Given the description of an element on the screen output the (x, y) to click on. 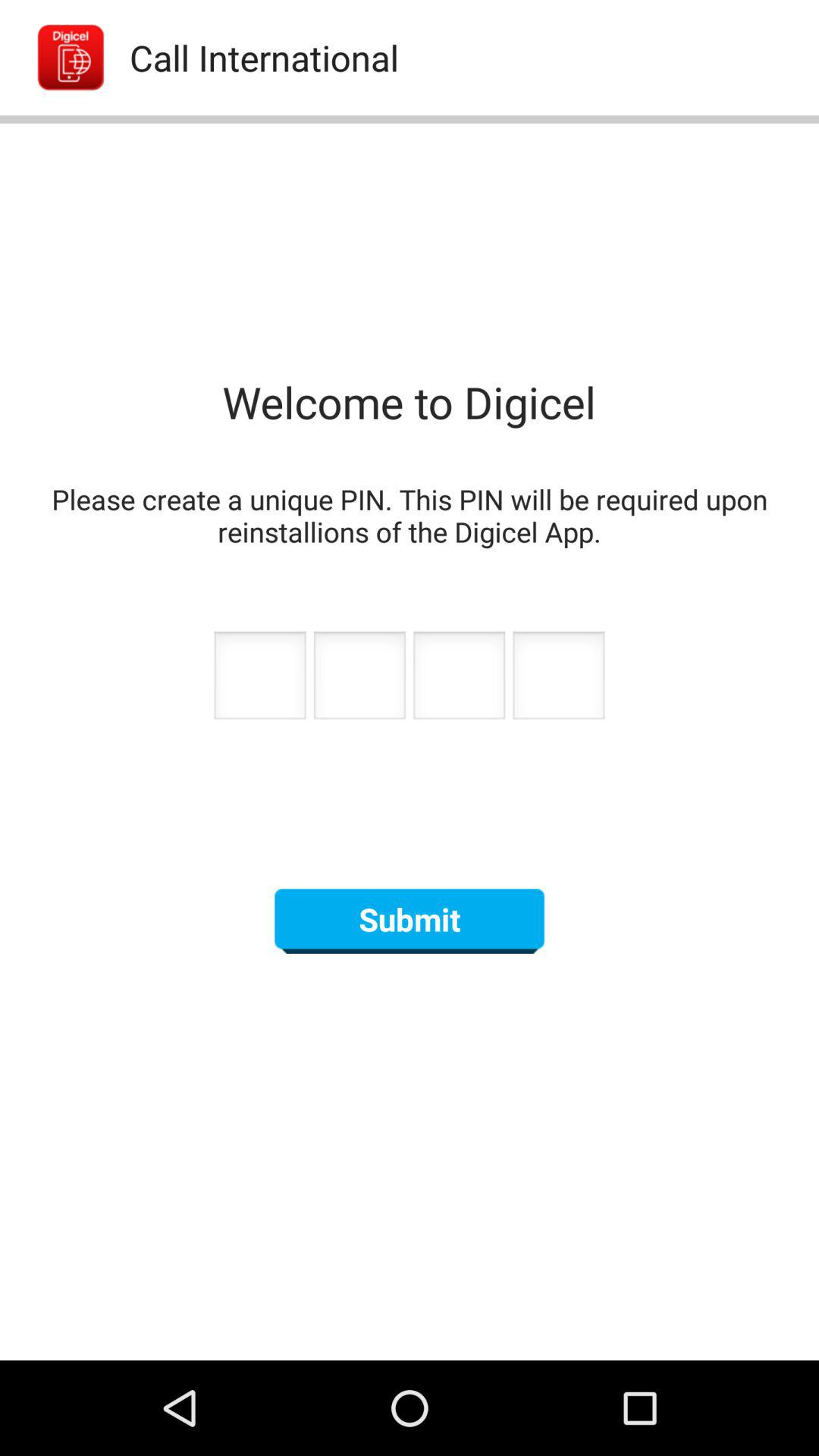
the first text for a unique pin (259, 679)
